Given the description of an element on the screen output the (x, y) to click on. 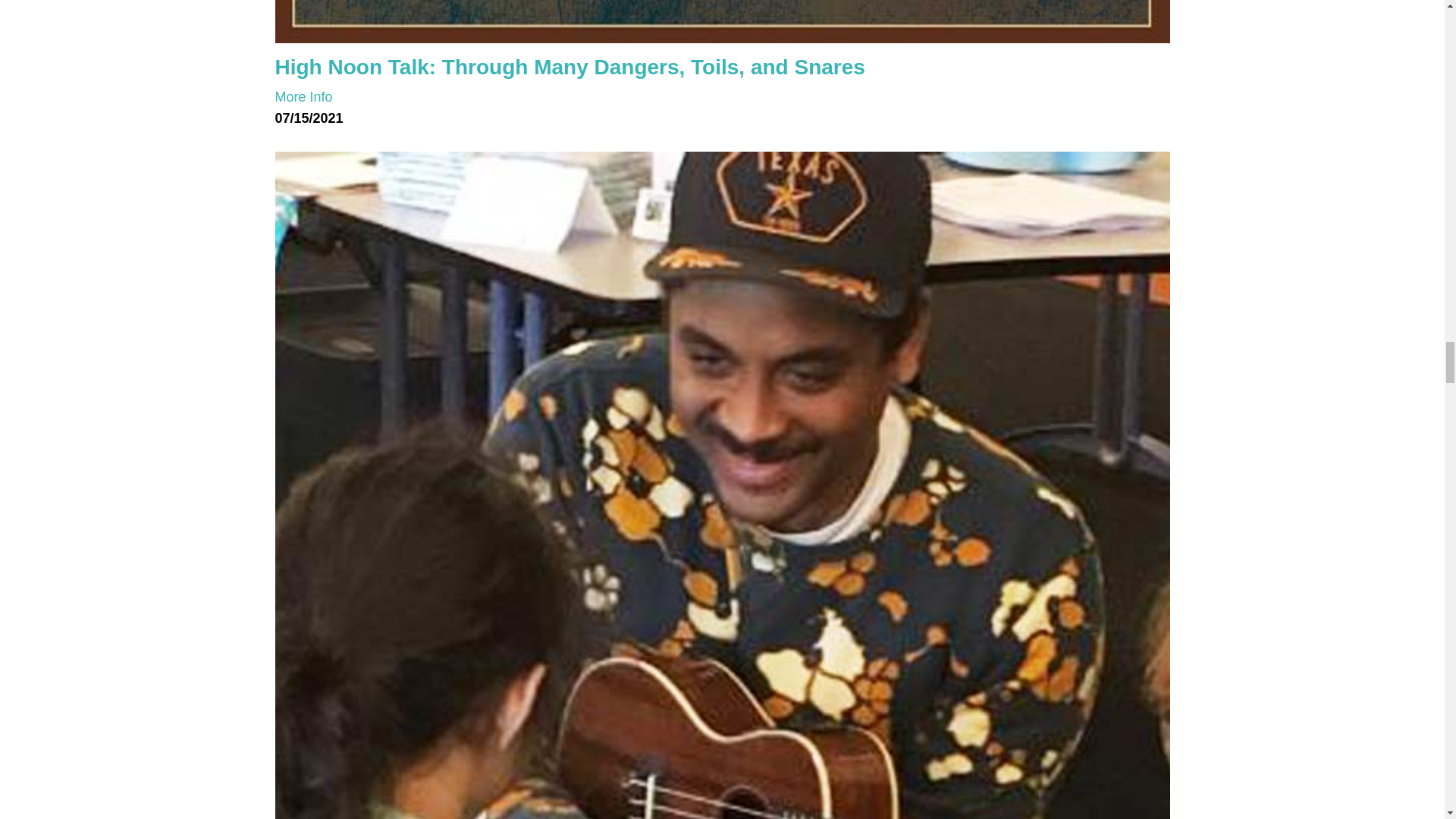
High Noon Talk: Through Many Dangers, Toils, and Snares (569, 65)
High Noon Talk: Through Many Dangers, Toils, and Snares (722, 21)
High Noon Talk: Through Many Dangers, Toils, and Snares (303, 96)
